Given the description of an element on the screen output the (x, y) to click on. 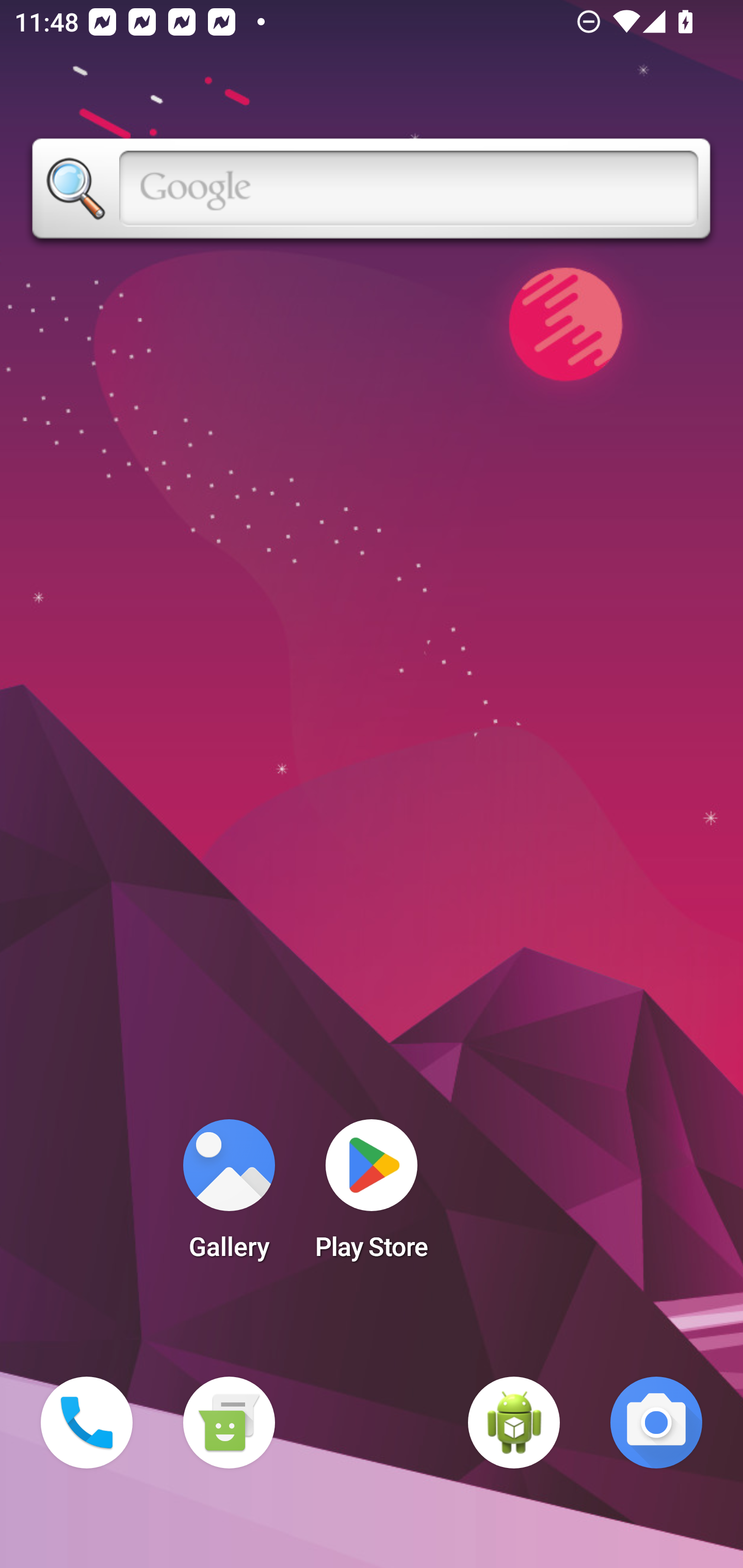
Gallery (228, 1195)
Play Store (371, 1195)
Phone (86, 1422)
Messaging (228, 1422)
WebView Browser Tester (513, 1422)
Camera (656, 1422)
